Given the description of an element on the screen output the (x, y) to click on. 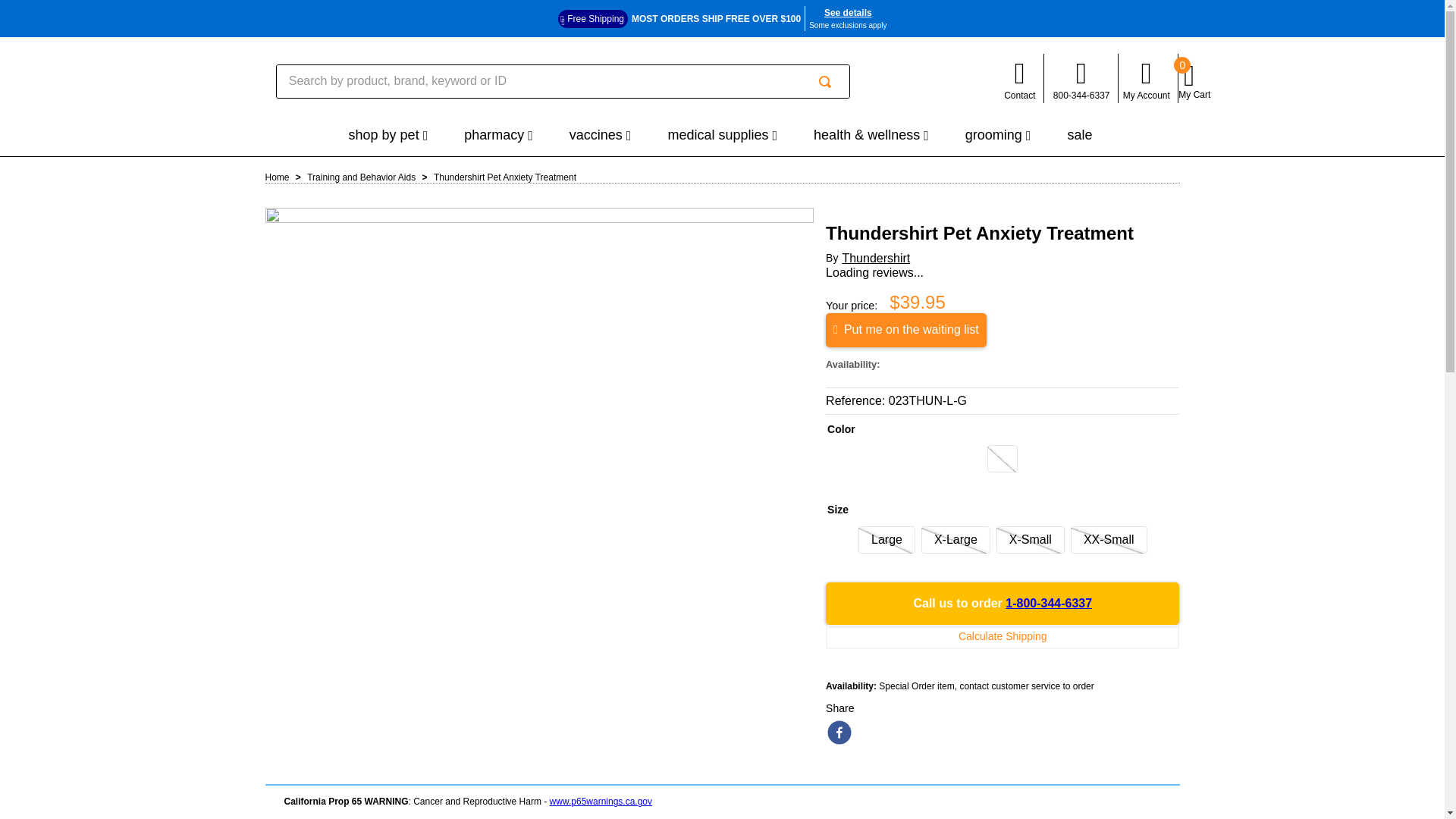
Home (276, 176)
grooming (997, 135)
800-344-6337 (1080, 78)
Thundershirt (875, 258)
pharmacy (498, 135)
sale (1081, 135)
vaccines (600, 135)
www.p65warnings.ca.gov (601, 801)
Vaccines (600, 135)
See details (848, 12)
medical supplies (721, 135)
grooming (997, 135)
Pharmacy (498, 135)
Medical Supplies (721, 135)
My Account (1146, 78)
